Given the description of an element on the screen output the (x, y) to click on. 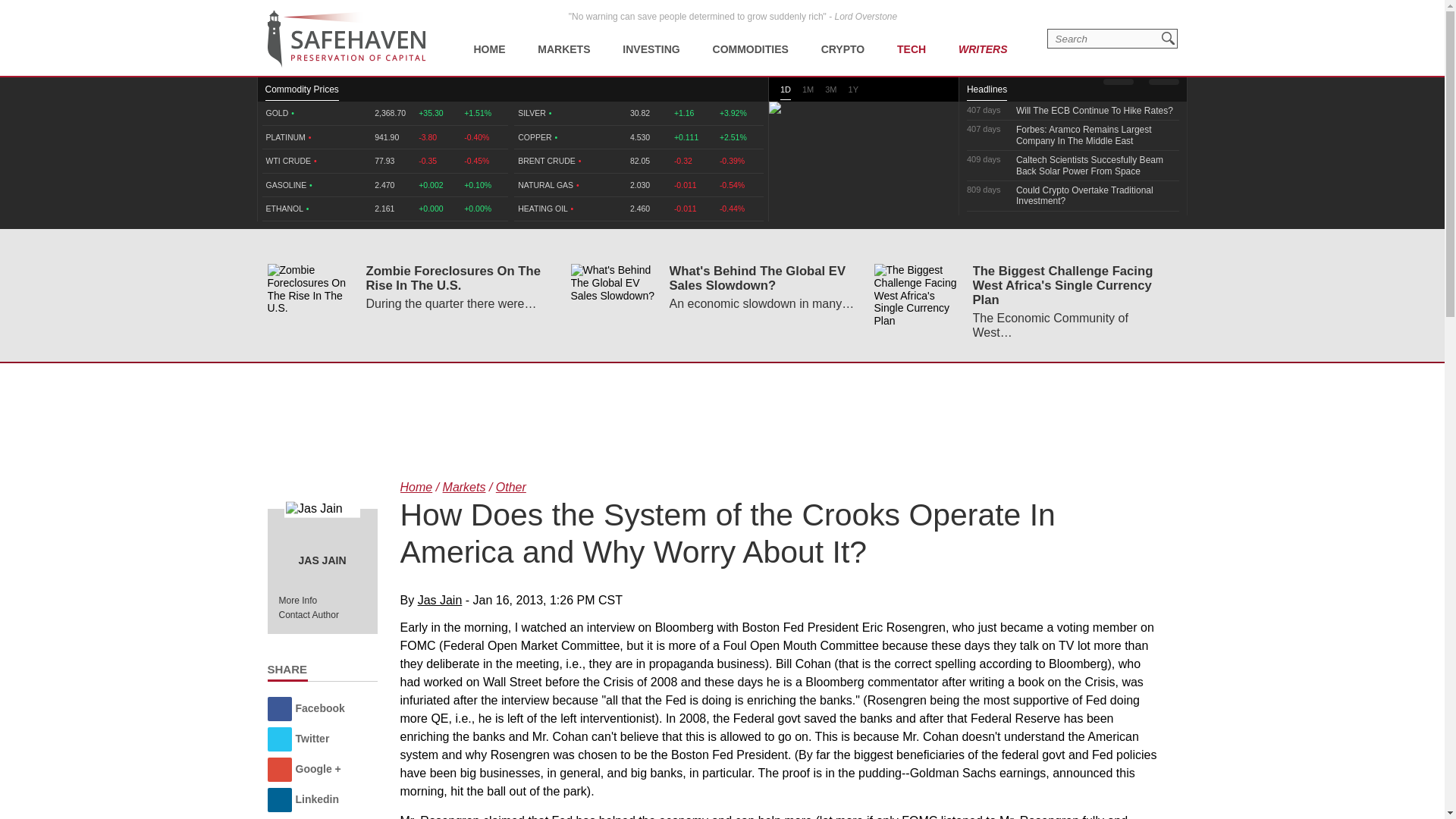
What's Behind The Global EV Sales Slowdown? (614, 282)
INVESTING (650, 38)
Zombie Foreclosures On The Rise In The U.S. (309, 288)
Commodity Prices (301, 92)
Headlines (986, 92)
COMMODITIES (750, 38)
Oil prices - Oilprice.com (345, 38)
Jas Jain (321, 507)
